Given the description of an element on the screen output the (x, y) to click on. 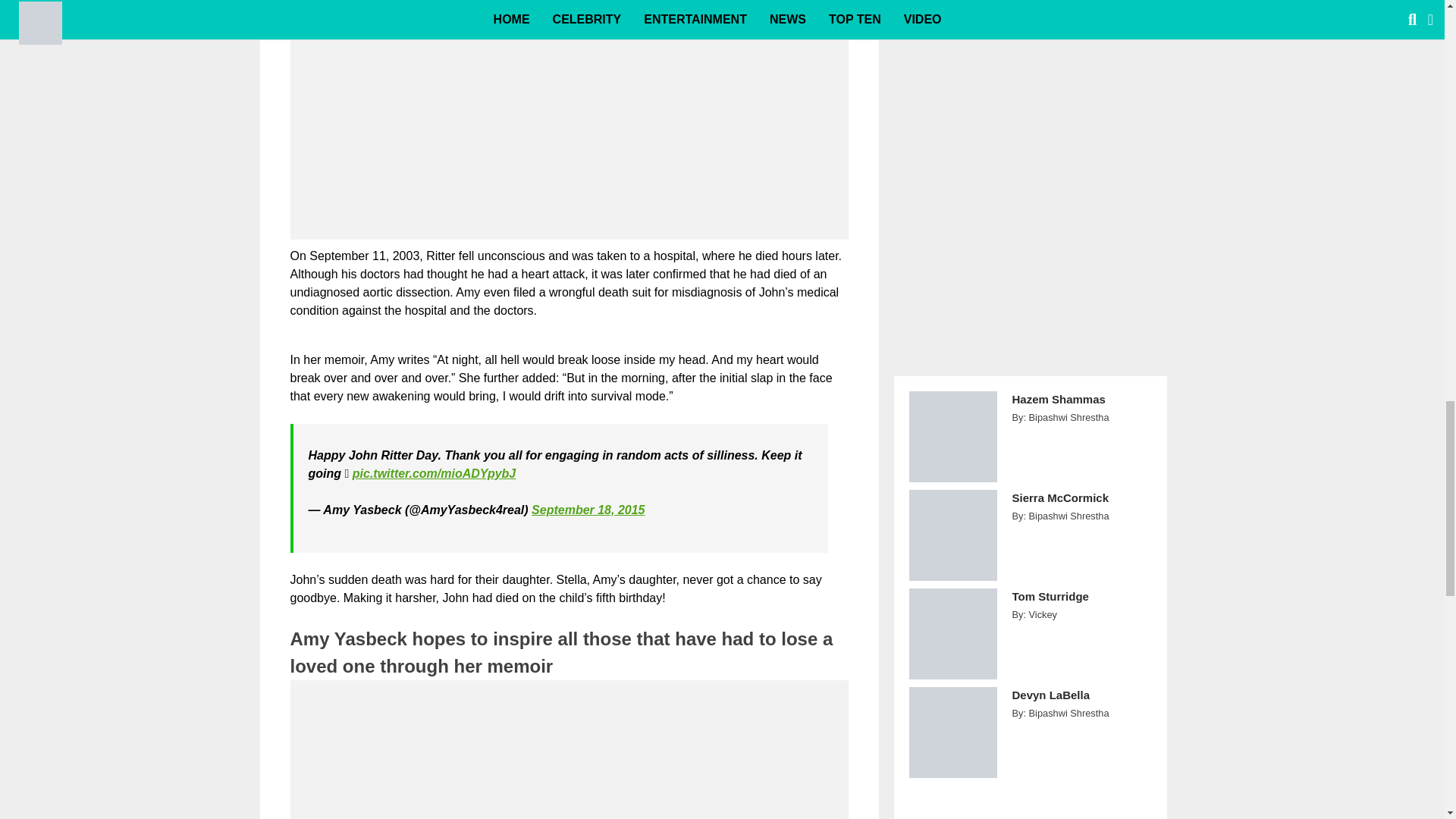
September 18, 2015 (588, 509)
Advertisement (568, 753)
Advertisement (568, 141)
